Given the description of an element on the screen output the (x, y) to click on. 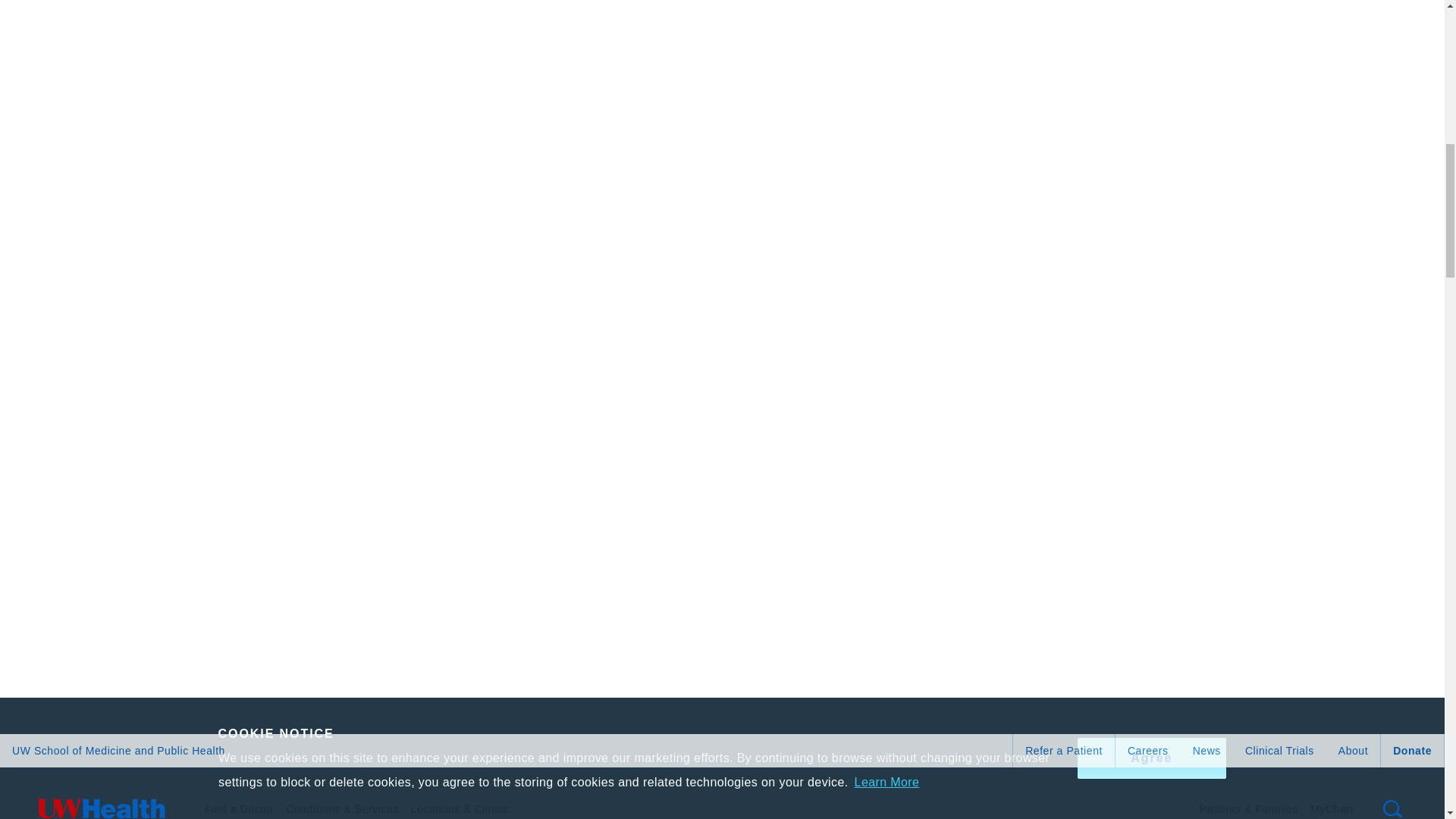
Donate (1412, 750)
Refer a Patient (1064, 750)
Clinical Trials (1279, 750)
MyChart (1332, 798)
UW School of Medicine and Public Health (118, 750)
Careers (1147, 750)
Find a Doctor (239, 798)
About (1353, 750)
News (1206, 750)
